Given the description of an element on the screen output the (x, y) to click on. 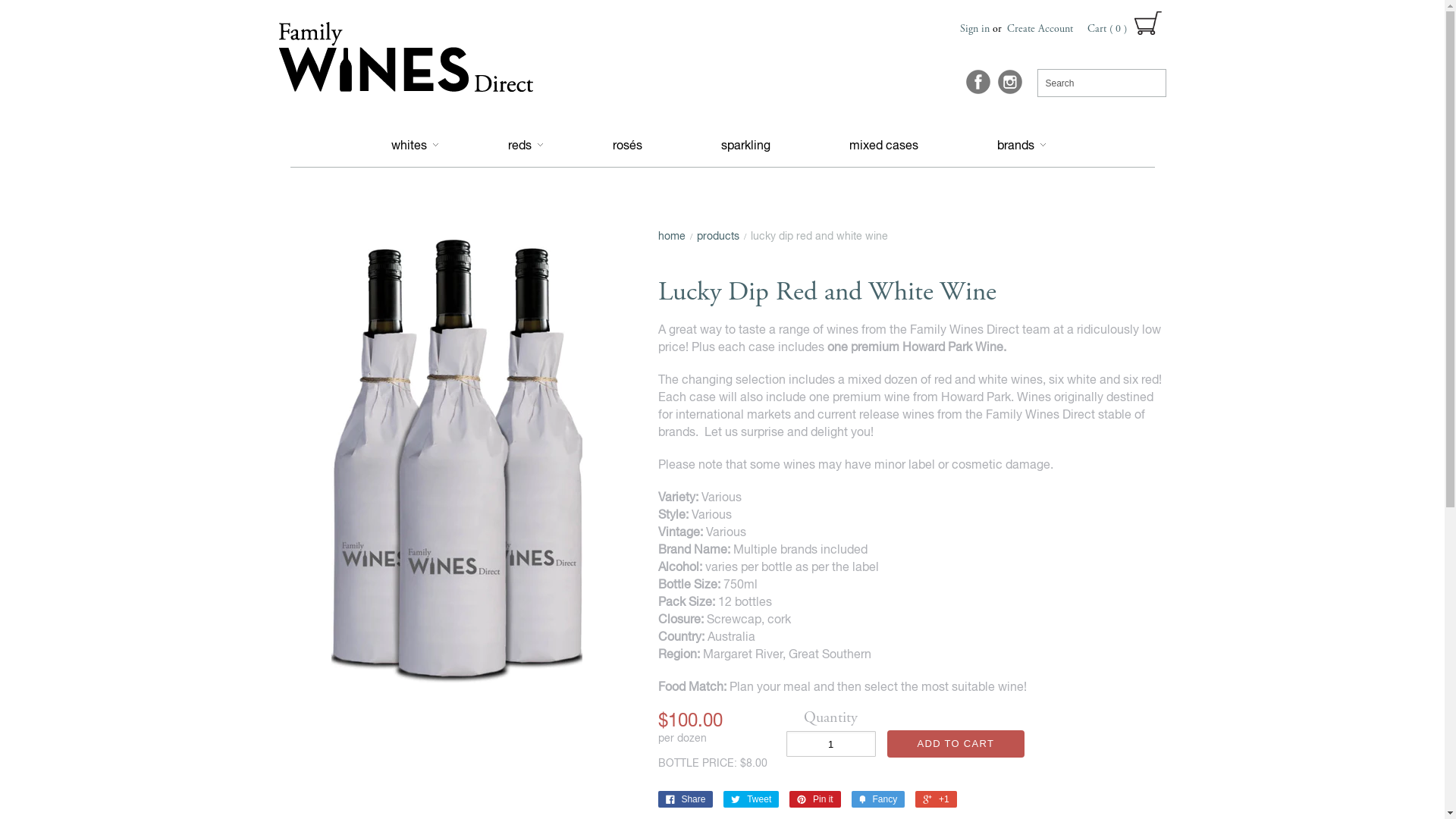
Create Account Element type: text (1040, 30)
reds Element type: text (516, 144)
Sign in Element type: text (974, 30)
+1 Element type: text (936, 798)
whites Element type: text (414, 144)
home Element type: text (671, 235)
mixed cases Element type: text (883, 144)
Pin it Element type: text (814, 798)
Fancy Element type: text (878, 798)
Add to Cart Element type: text (956, 743)
Share Element type: text (685, 798)
Cart ( 0 ) Element type: text (1126, 20)
Family Wines Direct on Facebook Element type: hover (978, 83)
Family Wines Direct on Instagram Element type: hover (1009, 83)
sparkling Element type: text (745, 144)
brands Element type: text (1012, 144)
products Element type: text (717, 235)
Tweet Element type: text (750, 798)
